Given the description of an element on the screen output the (x, y) to click on. 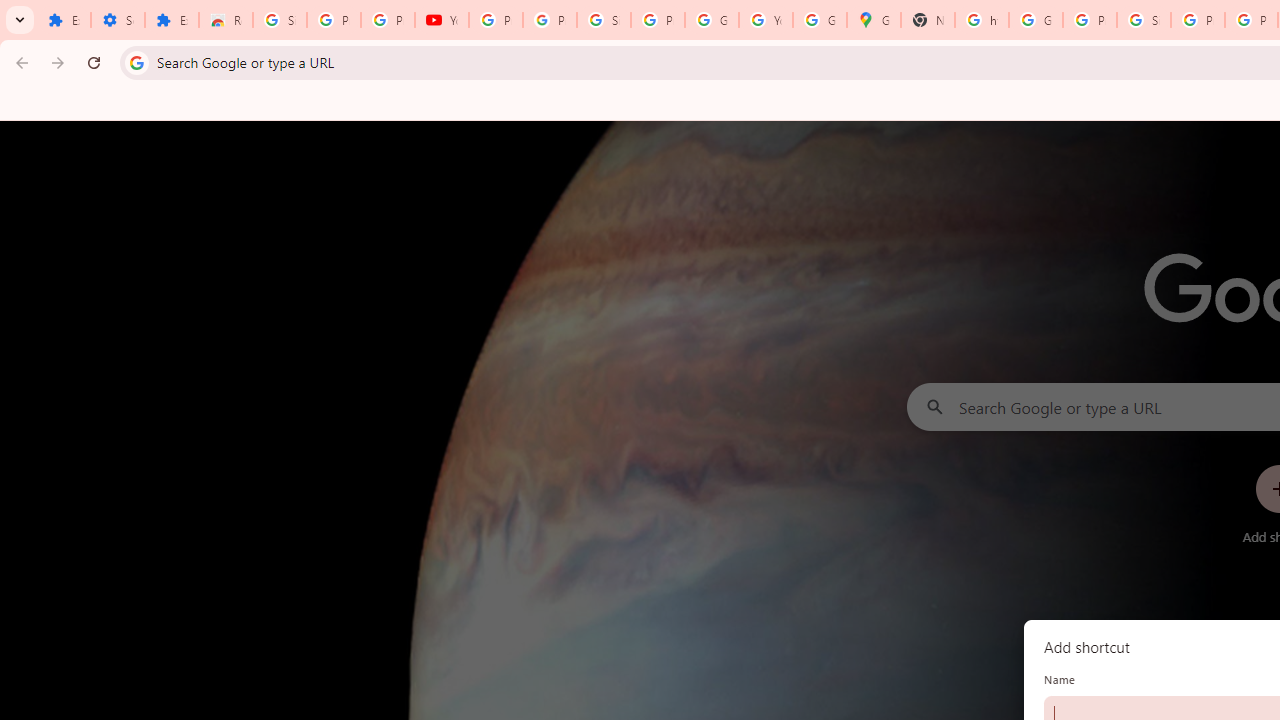
Sign in - Google Accounts (604, 20)
Reviews: Helix Fruit Jump Arcade Game (225, 20)
YouTube (441, 20)
